Given the description of an element on the screen output the (x, y) to click on. 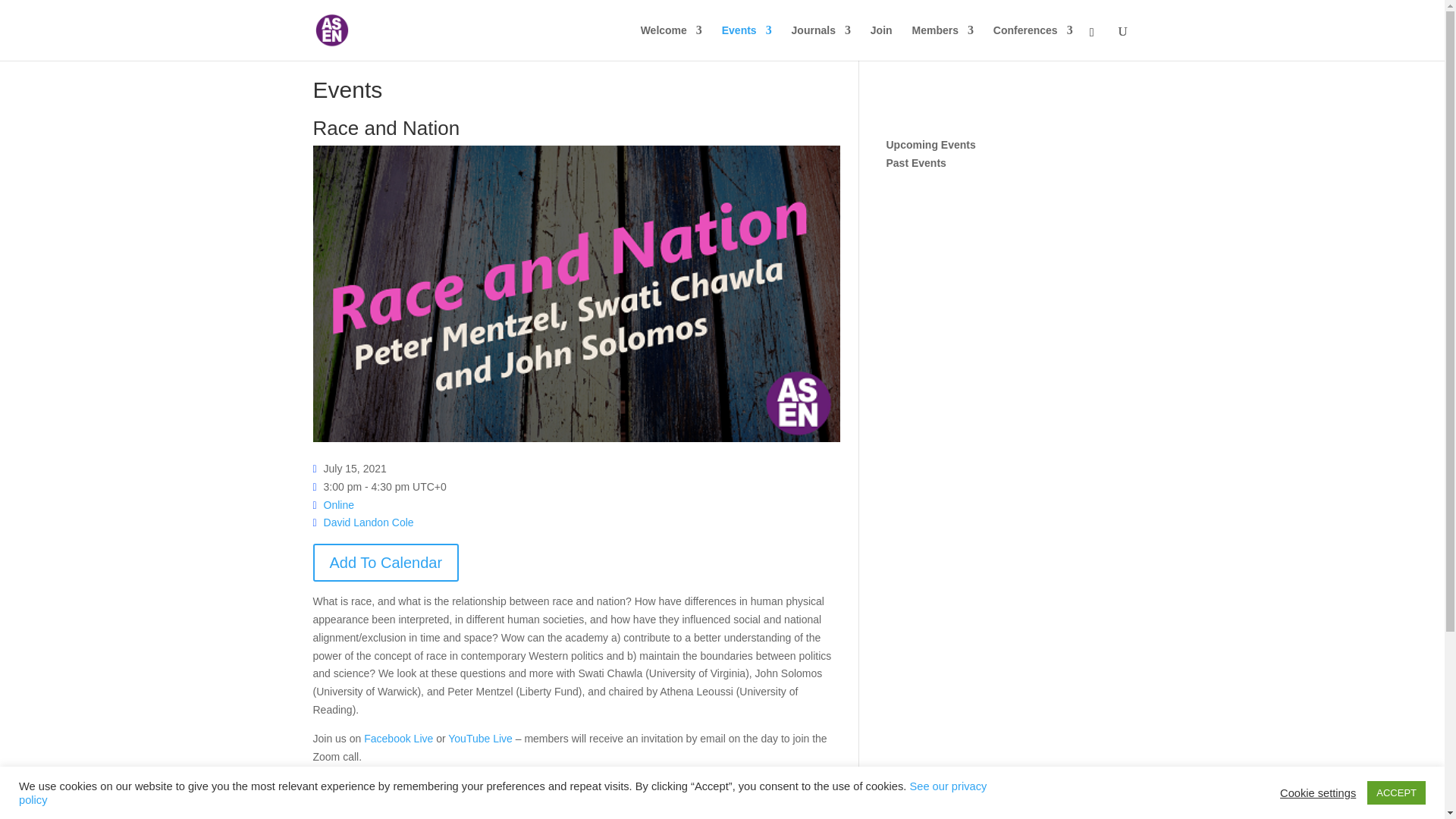
Members (941, 42)
Conferences (1032, 42)
Events (746, 42)
Welcome (670, 42)
Journals (821, 42)
